Given the description of an element on the screen output the (x, y) to click on. 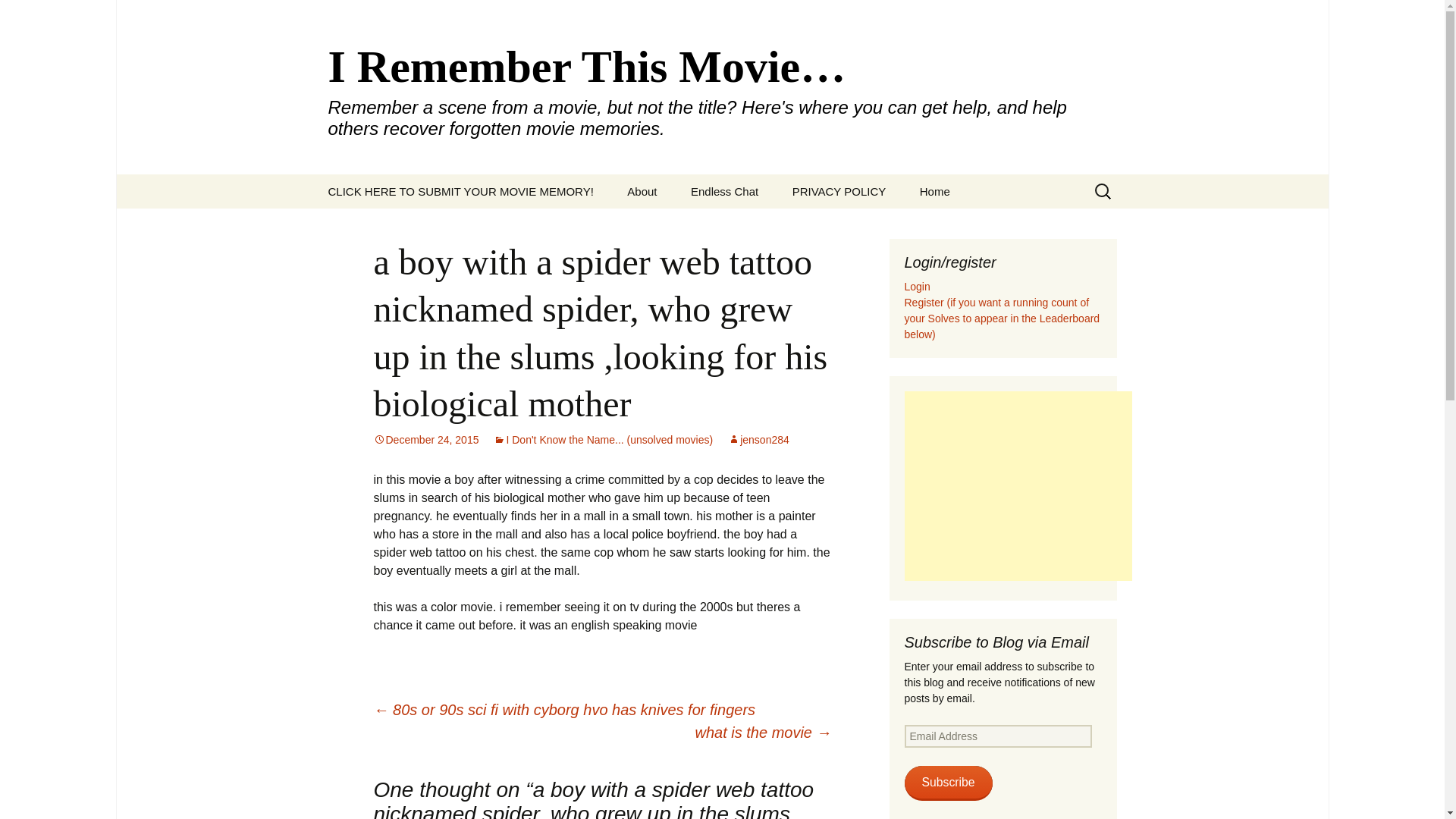
About (641, 191)
Login (917, 286)
December 24, 2015 (425, 439)
Advertisement (1017, 485)
Home (934, 191)
jenson284 (758, 439)
PRIVACY POLICY (839, 191)
Subscribe (947, 782)
